Given the description of an element on the screen output the (x, y) to click on. 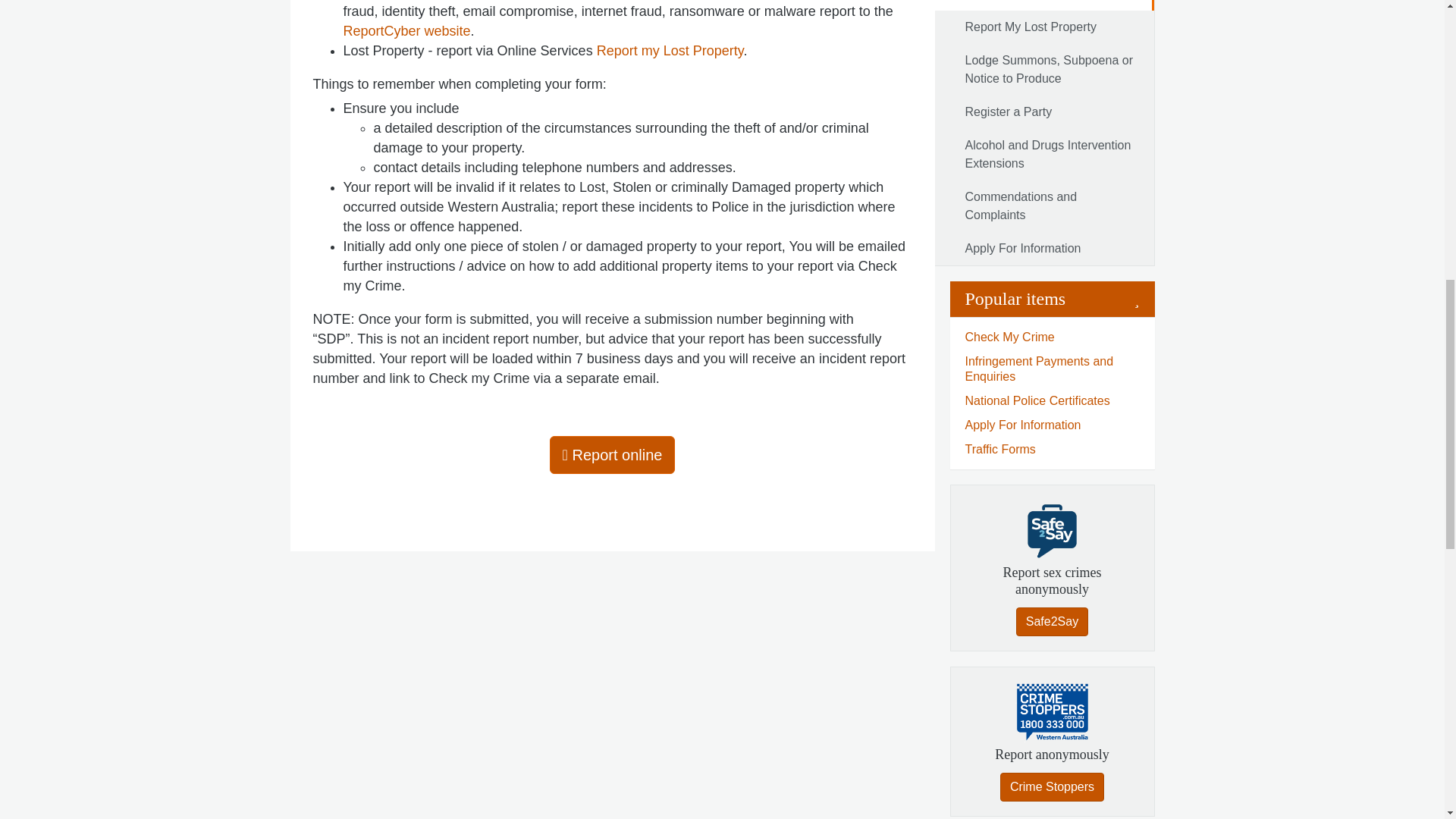
ReportCyber website (406, 30)
Report my Lost Property (670, 50)
cyber.gov.au (406, 30)
Report online (612, 454)
